Given the description of an element on the screen output the (x, y) to click on. 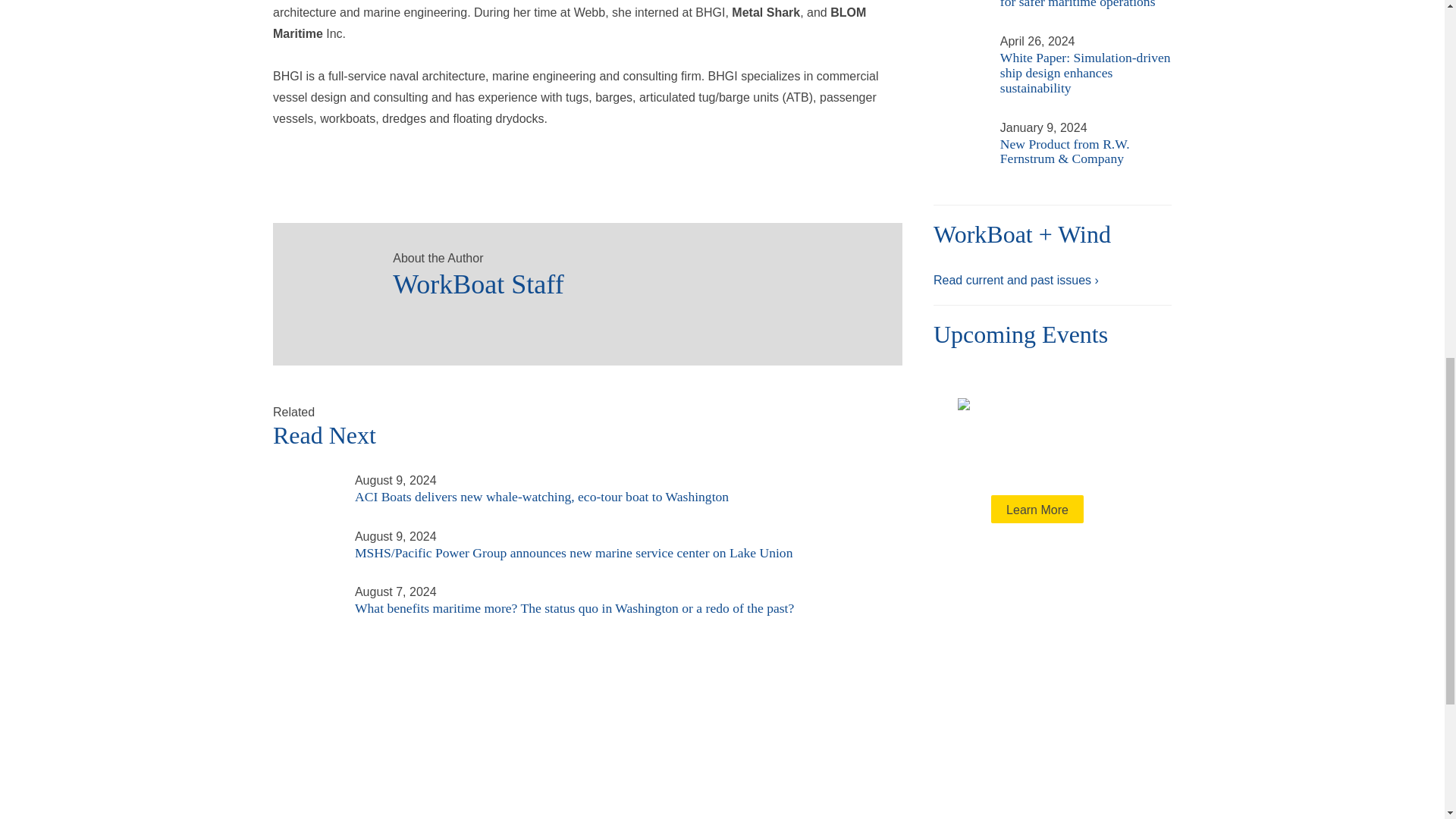
WorkBoat Staff (631, 279)
WorkBoat Staff (325, 275)
